Given the description of an element on the screen output the (x, y) to click on. 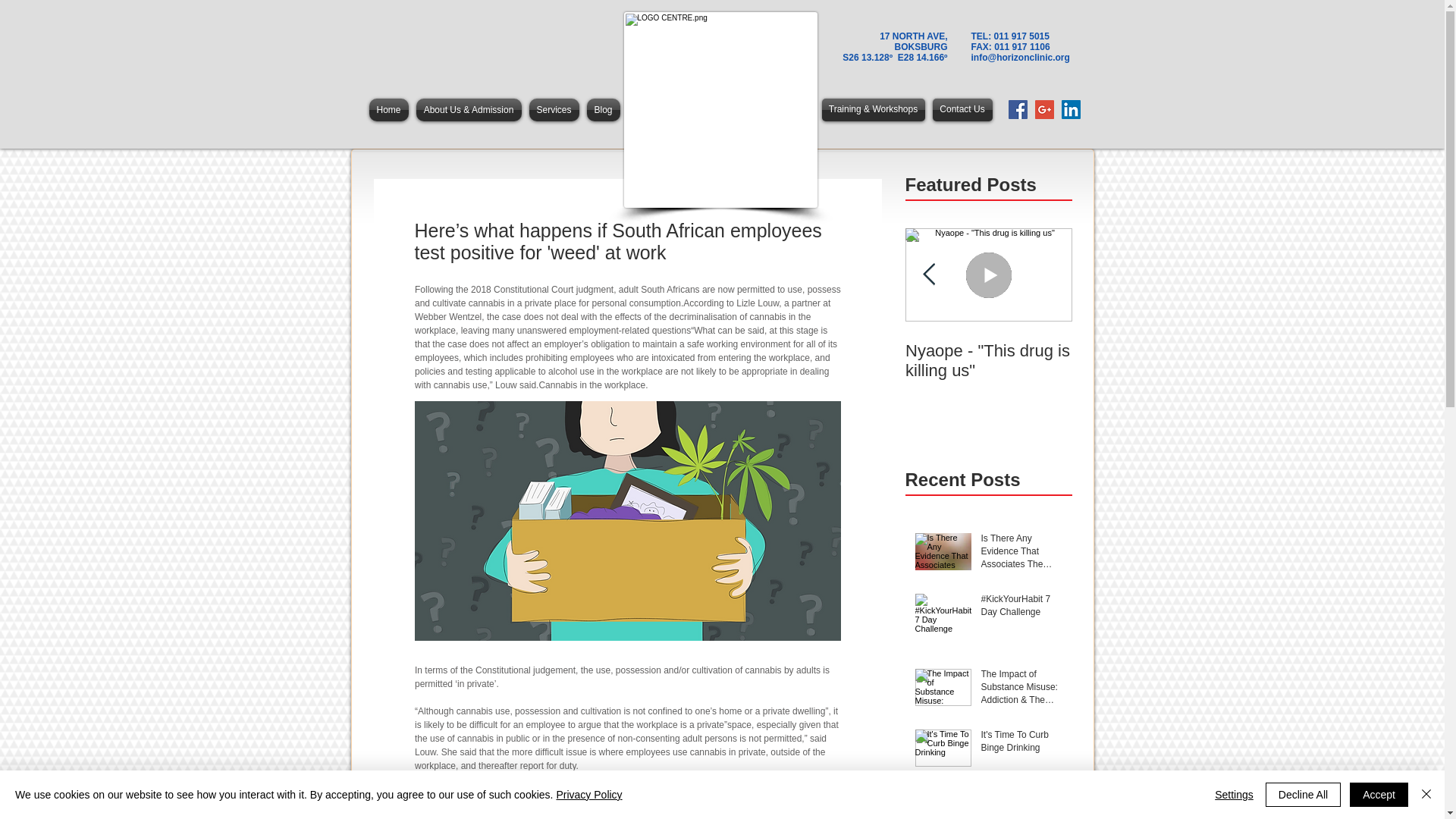
Services (553, 109)
Decline All (1302, 794)
Privacy Policy (588, 794)
Contact Us (962, 109)
Site Search (485, 41)
Blog (602, 109)
Home (390, 109)
It's Time To Curb Binge Drinking (1021, 744)
Accept (1378, 794)
Nyaope - "This drug is killing us" (988, 360)
